Given the description of an element on the screen output the (x, y) to click on. 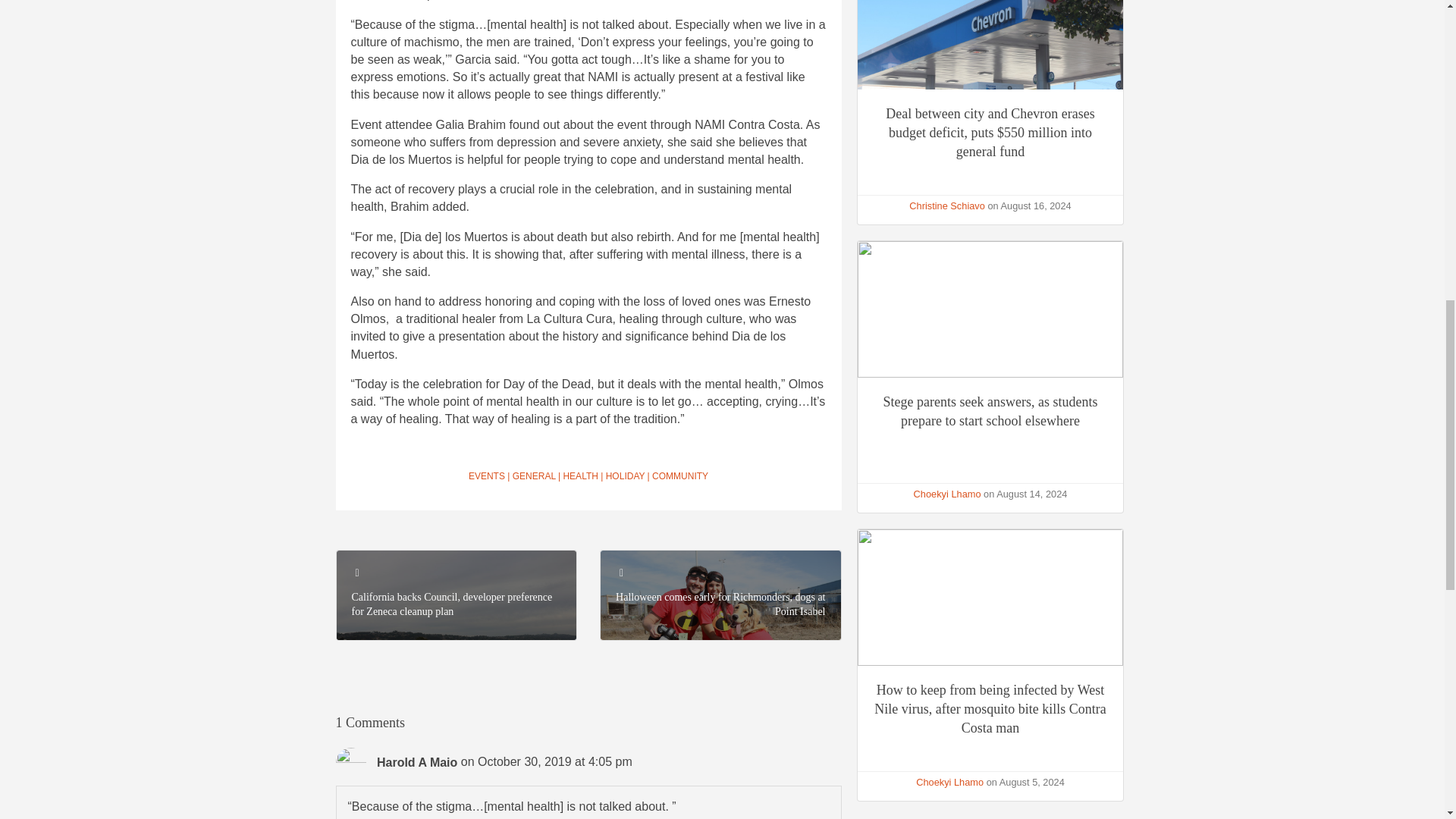
Christine Schiavo (946, 205)
HEALTH (579, 475)
EVENTS (486, 475)
Choekyi Lhamo (949, 781)
Choekyi Lhamo (947, 493)
COMMUNITY (679, 475)
HOLIDAY (625, 475)
